Given the description of an element on the screen output the (x, y) to click on. 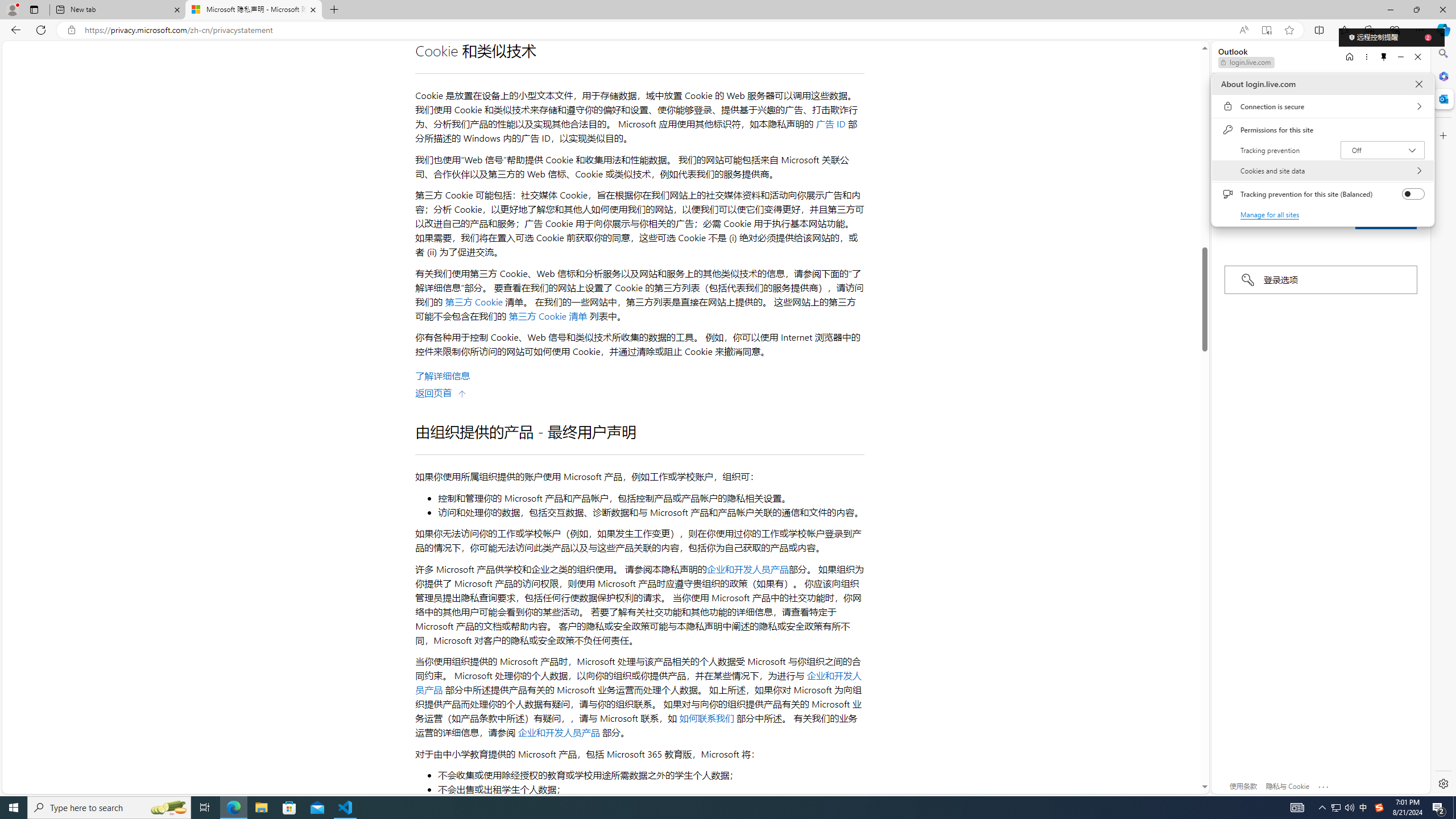
Search highlights icon opens search home window (167, 807)
AutomationID: 4105 (1297, 807)
Type here to search (108, 807)
Q2790: 100% (1349, 807)
Action Center, 2 new notifications (1439, 807)
Connection is secure (1322, 105)
Task View (204, 807)
File Explorer (261, 807)
User Promoted Notification Area (1342, 807)
Visual Studio Code - 1 running window (345, 807)
Manage for all sites (1270, 214)
Running applications (707, 807)
Notification Chevron (1322, 807)
